Given the description of an element on the screen output the (x, y) to click on. 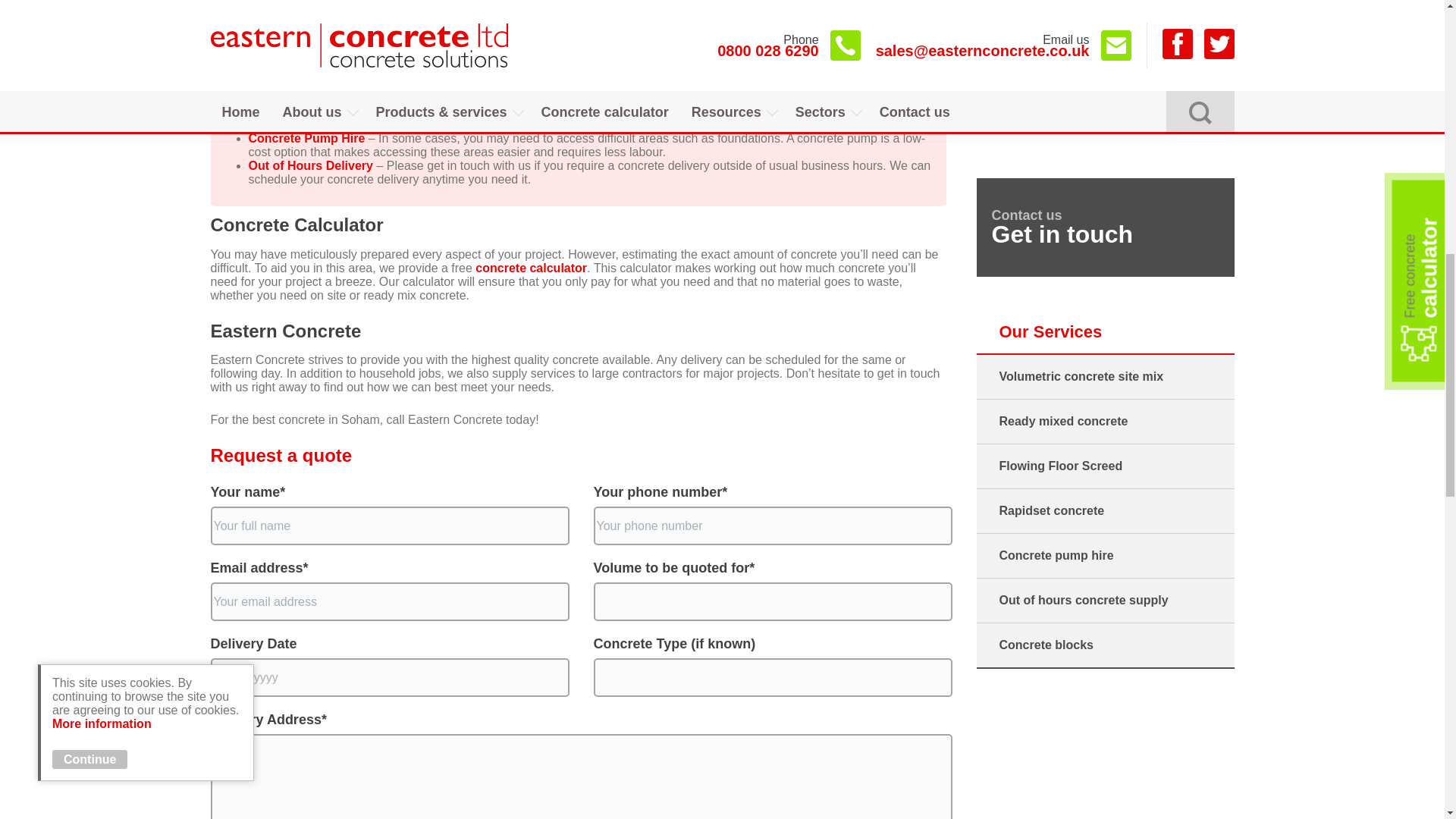
Ready Mix Concrete (306, 56)
Flowing Floor Screed (310, 83)
Rapid Set Concrete (304, 110)
Site Mix Concrete (299, 29)
